Given the description of an element on the screen output the (x, y) to click on. 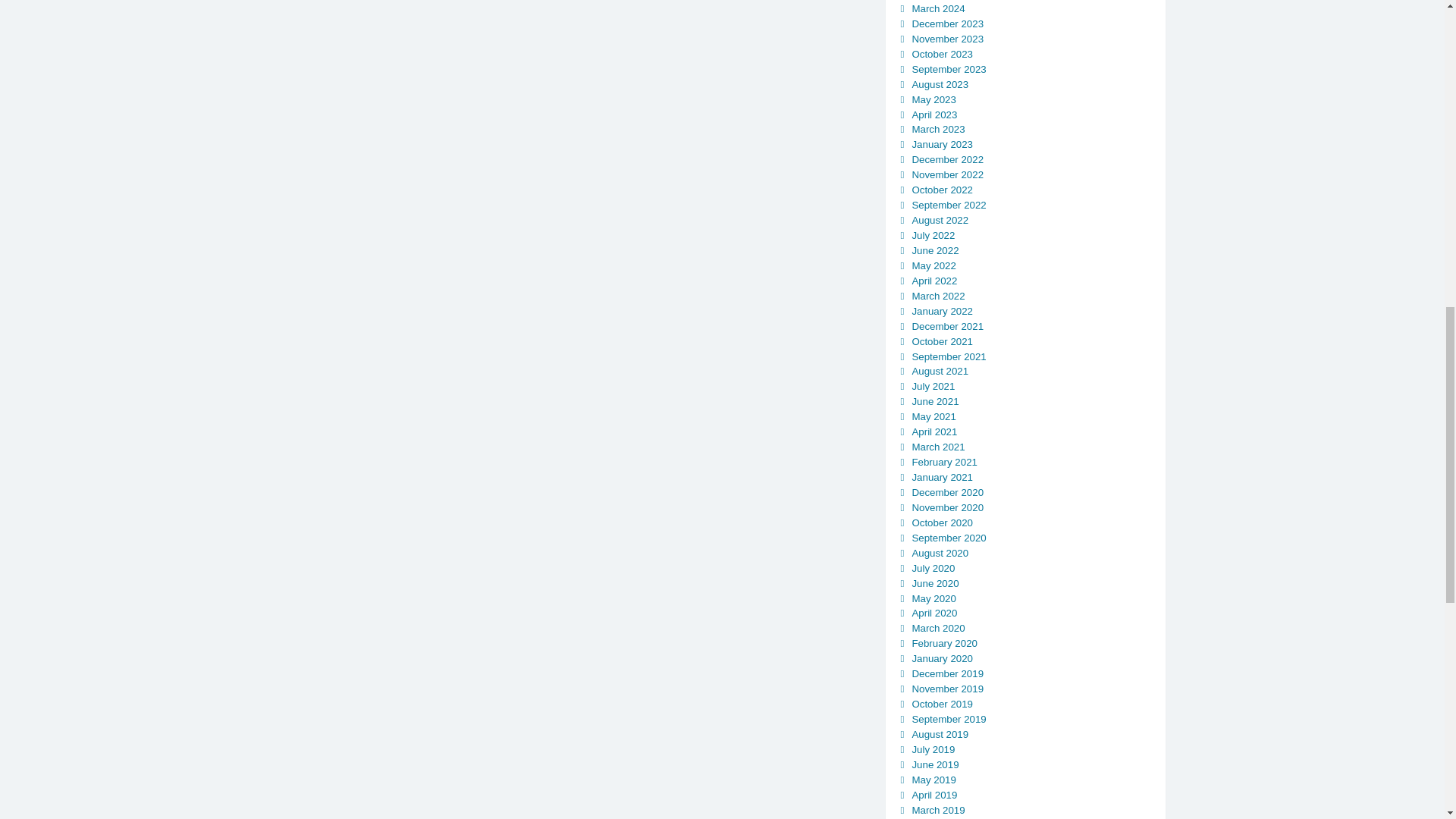
November 2023 (947, 39)
March 2022 (937, 296)
November 2022 (947, 174)
October 2022 (941, 189)
March 2023 (937, 129)
April 2023 (933, 114)
October 2023 (941, 53)
September 2023 (948, 69)
April 2022 (933, 280)
August 2023 (939, 84)
March 2024 (937, 8)
July 2022 (933, 235)
May 2022 (933, 265)
August 2022 (939, 220)
June 2022 (934, 250)
